Given the description of an element on the screen output the (x, y) to click on. 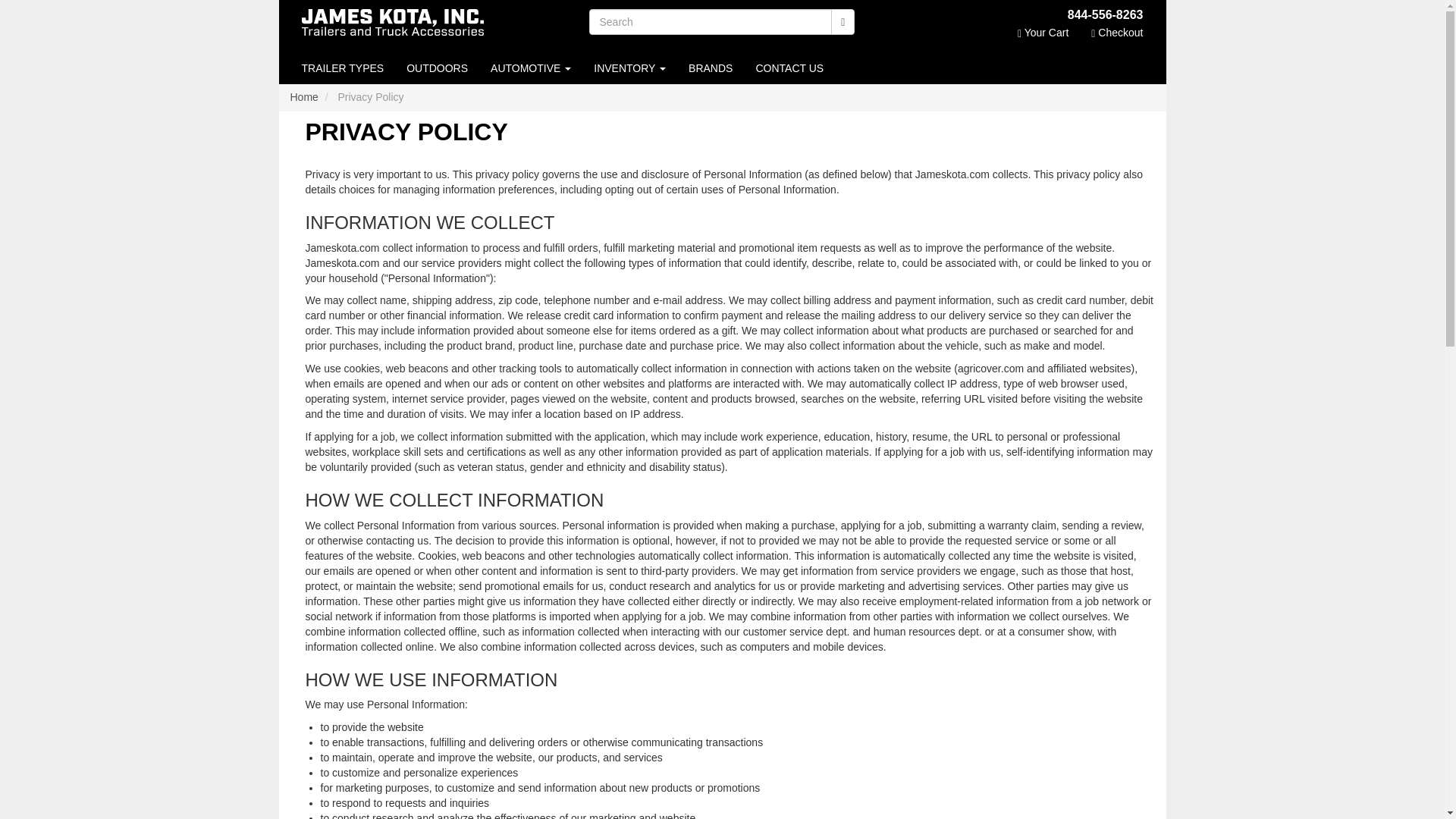
Your Cart (1043, 32)
BRANDS (710, 68)
OUTDOORS (436, 68)
TRAILER TYPES (341, 68)
CONTACT US (789, 68)
INVENTORY (629, 68)
844-556-8263 (1009, 15)
AUTOMOTIVE (530, 68)
Home (303, 96)
Checkout (1117, 32)
